Given the description of an element on the screen output the (x, y) to click on. 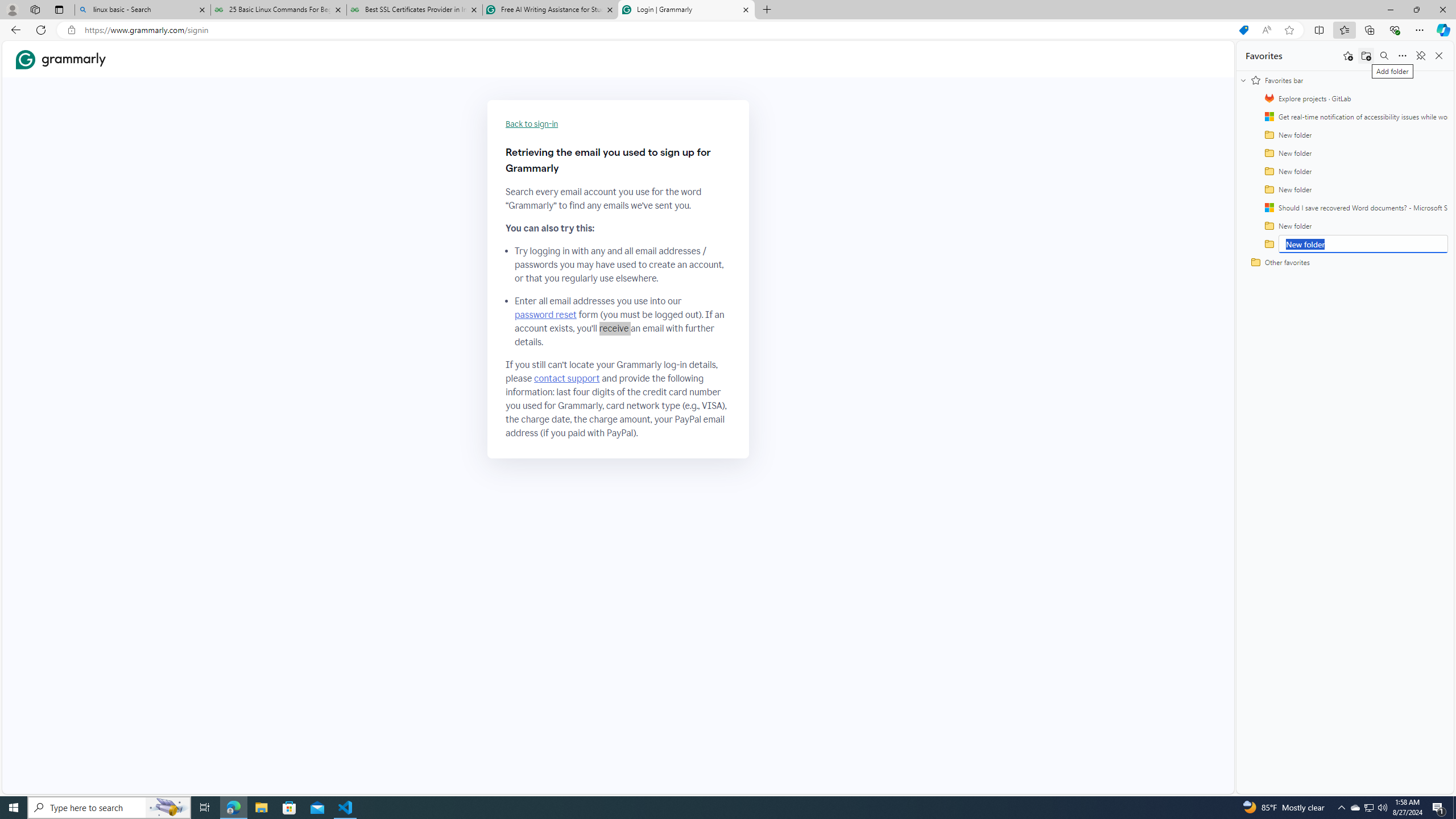
contact support (566, 378)
linux basic - Search (142, 9)
AutomationID: control (1362, 244)
Grammarly Home (61, 59)
Login | Grammarly (685, 9)
Close favorites (1439, 55)
